Given the description of an element on the screen output the (x, y) to click on. 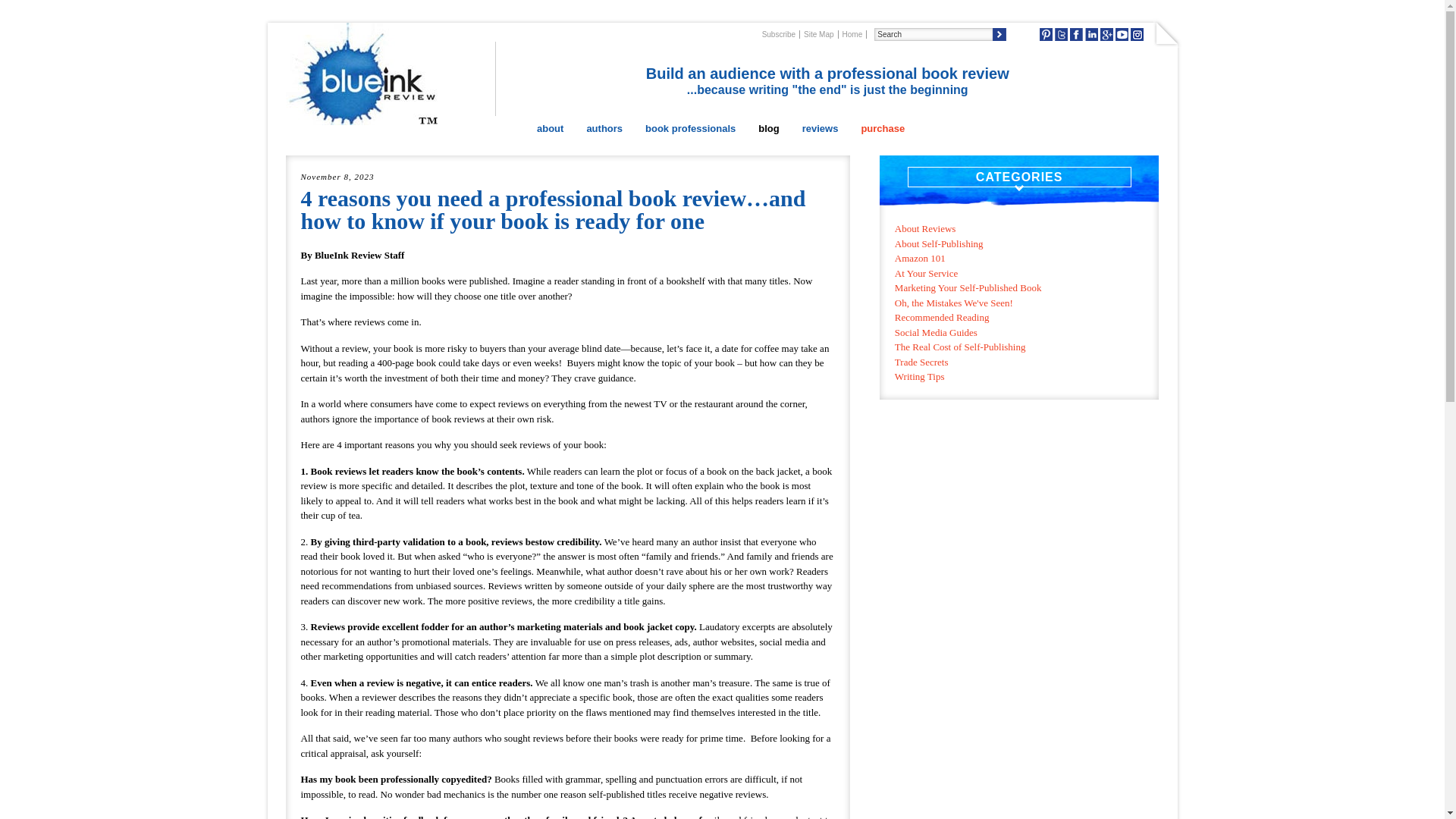
Twitter (1060, 33)
Facebook (1076, 33)
Subscribe (778, 34)
Pinterest (1045, 33)
Site Map (818, 34)
LinkedIn (1090, 33)
YouTube (1121, 33)
Home (852, 34)
